Given the description of an element on the screen output the (x, y) to click on. 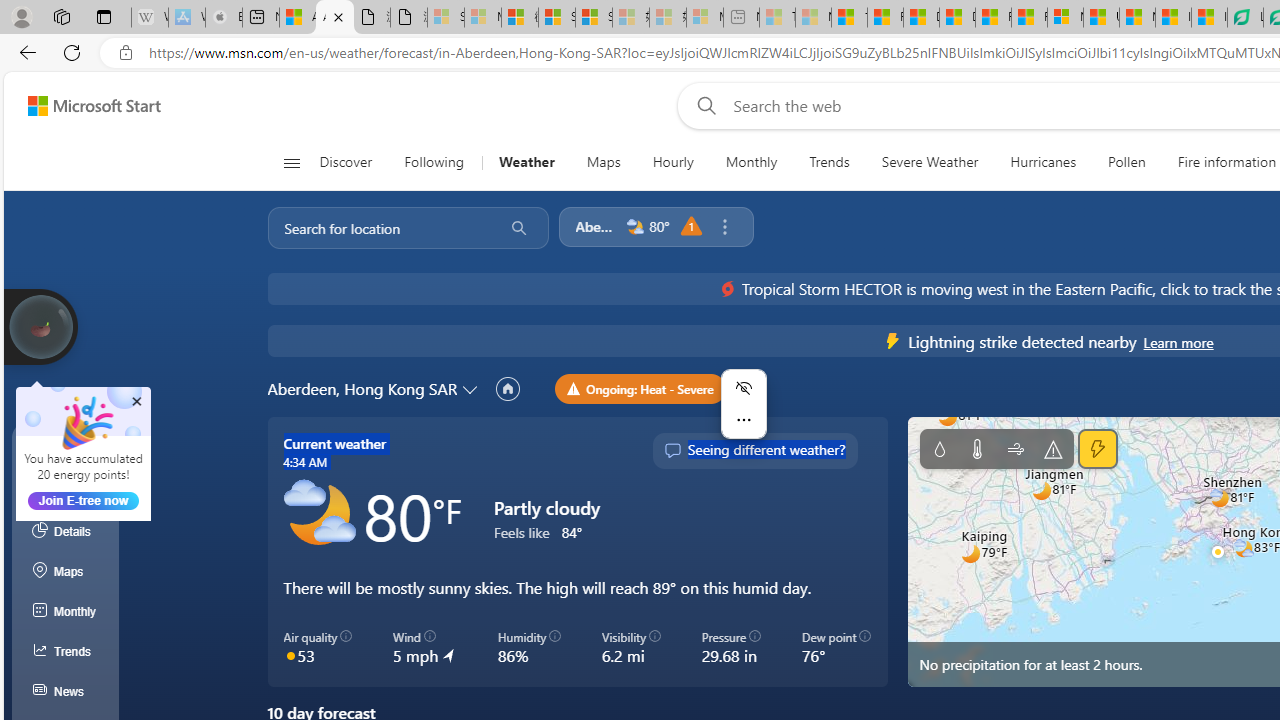
Buy iPad - Apple - Sleeping (223, 17)
Precipitation (939, 449)
Wind (1015, 449)
Fire information (1227, 162)
Hurricanes (1043, 162)
